Given the description of an element on the screen output the (x, y) to click on. 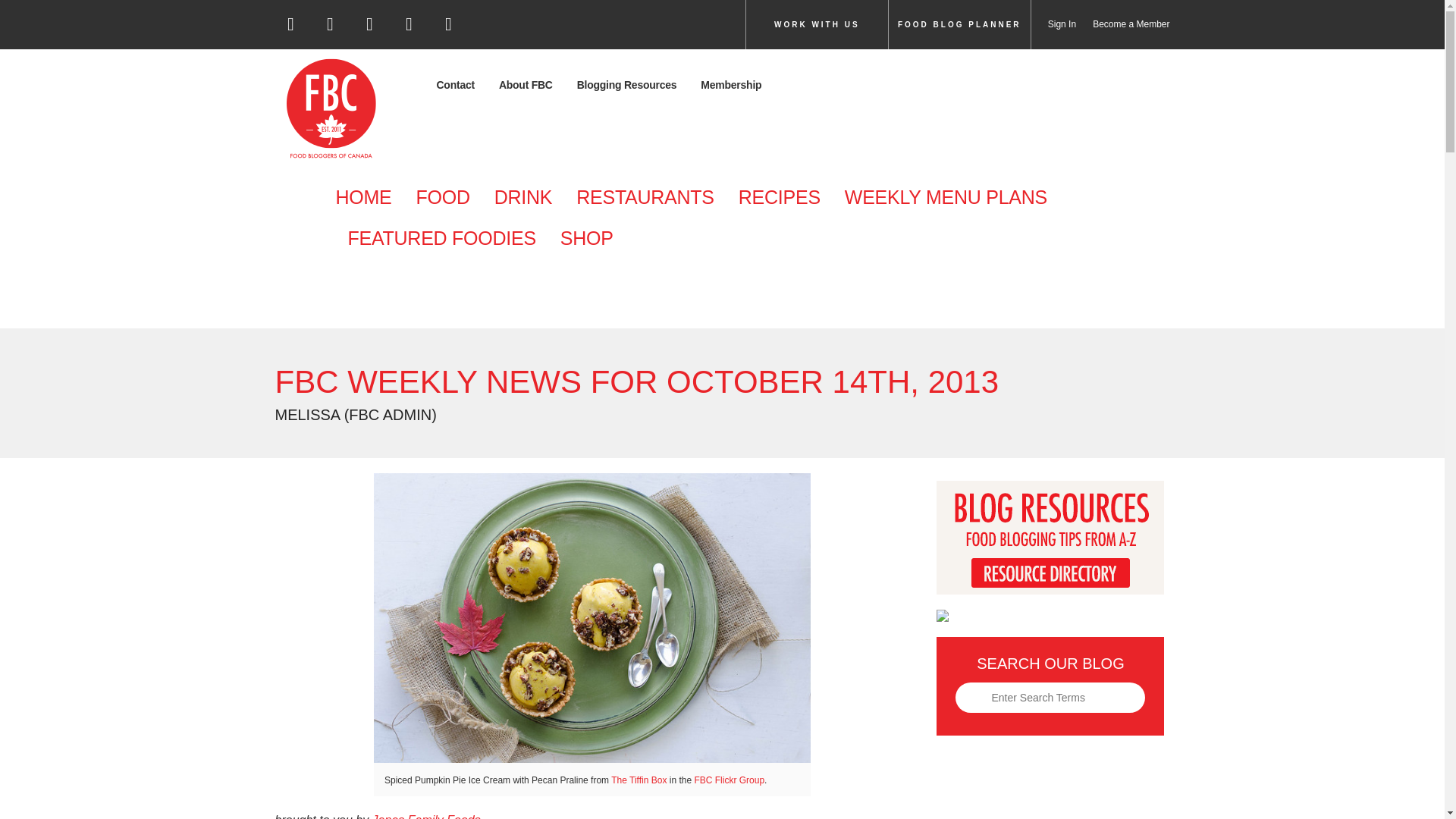
Membership (730, 84)
Facebook (291, 28)
Become a Member (1122, 24)
Twitter (330, 28)
HOME (368, 197)
WORK WITH US (816, 24)
Sign In (1052, 24)
Janes Family Foods (428, 816)
Blogging Resources (626, 84)
The Tiffin Box (638, 779)
FOOD BLOG PLANNER (959, 24)
About FBC (525, 84)
Pinterest (409, 28)
The FBC Flickr Group (729, 779)
FOOD (442, 197)
